Given the description of an element on the screen output the (x, y) to click on. 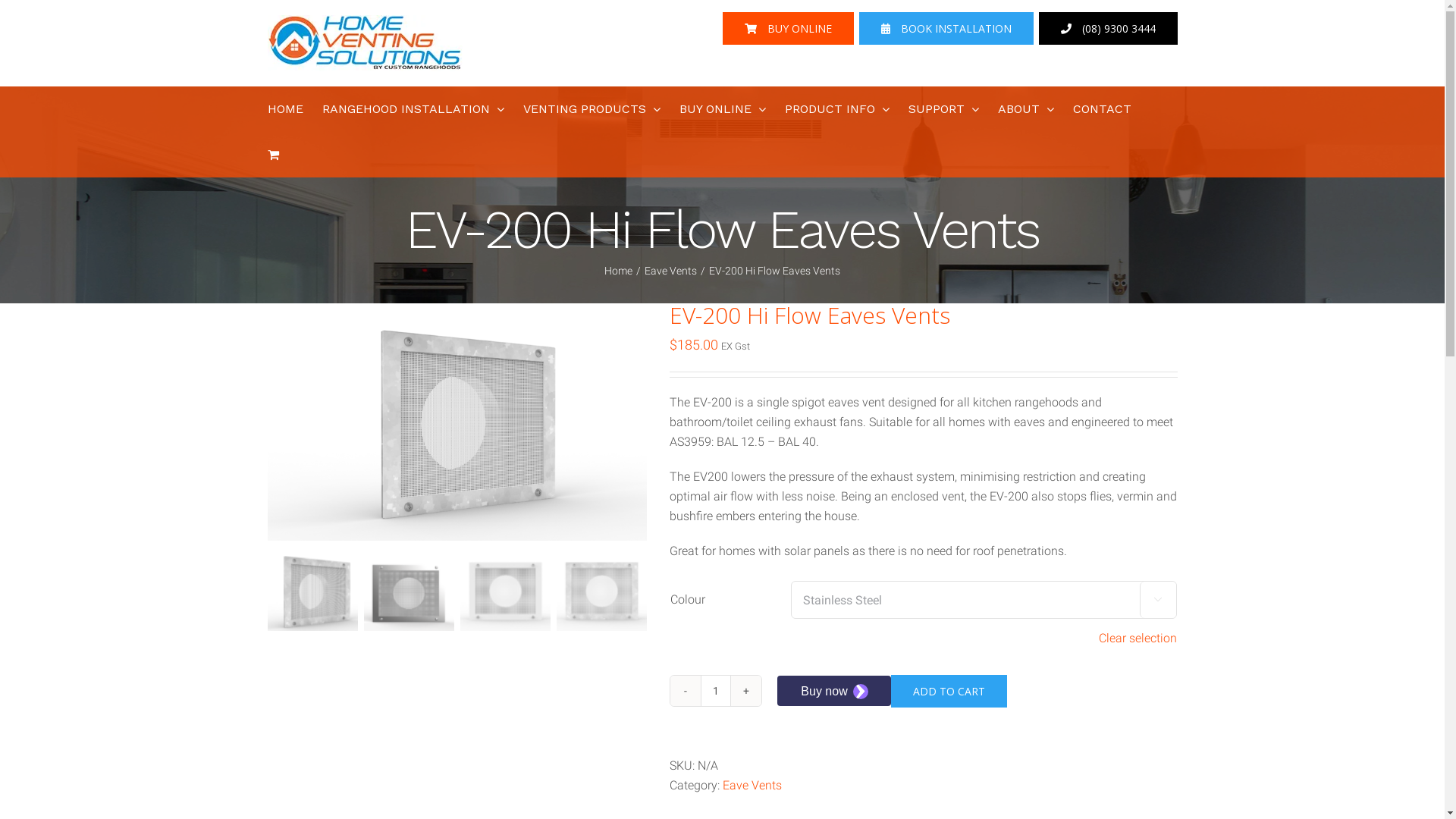
Clear selection Element type: text (1137, 638)
EV_200IsoGalv.78.png Element type: hover (456, 421)
SUPPORT Element type: text (943, 108)
BUY ONLINE Element type: text (722, 108)
RANGEHOOD INSTALLATION Element type: text (412, 108)
Home Element type: text (618, 270)
ABOUT Element type: text (1025, 108)
CONTACT Element type: text (1101, 108)
HOME Element type: text (284, 108)
Eave Vents Element type: text (751, 785)
BOOK INSTALLATION Element type: text (945, 28)
(08) 9300 3444 Element type: text (1107, 28)
BUY ONLINE Element type: text (787, 28)
PRODUCT INFO Element type: text (836, 108)
ADD TO CART Element type: text (948, 690)
Secure payment button frame Element type: hover (833, 690)
Eave Vents Element type: text (670, 270)
VENTING PRODUCTS Element type: text (591, 108)
